Given the description of an element on the screen output the (x, y) to click on. 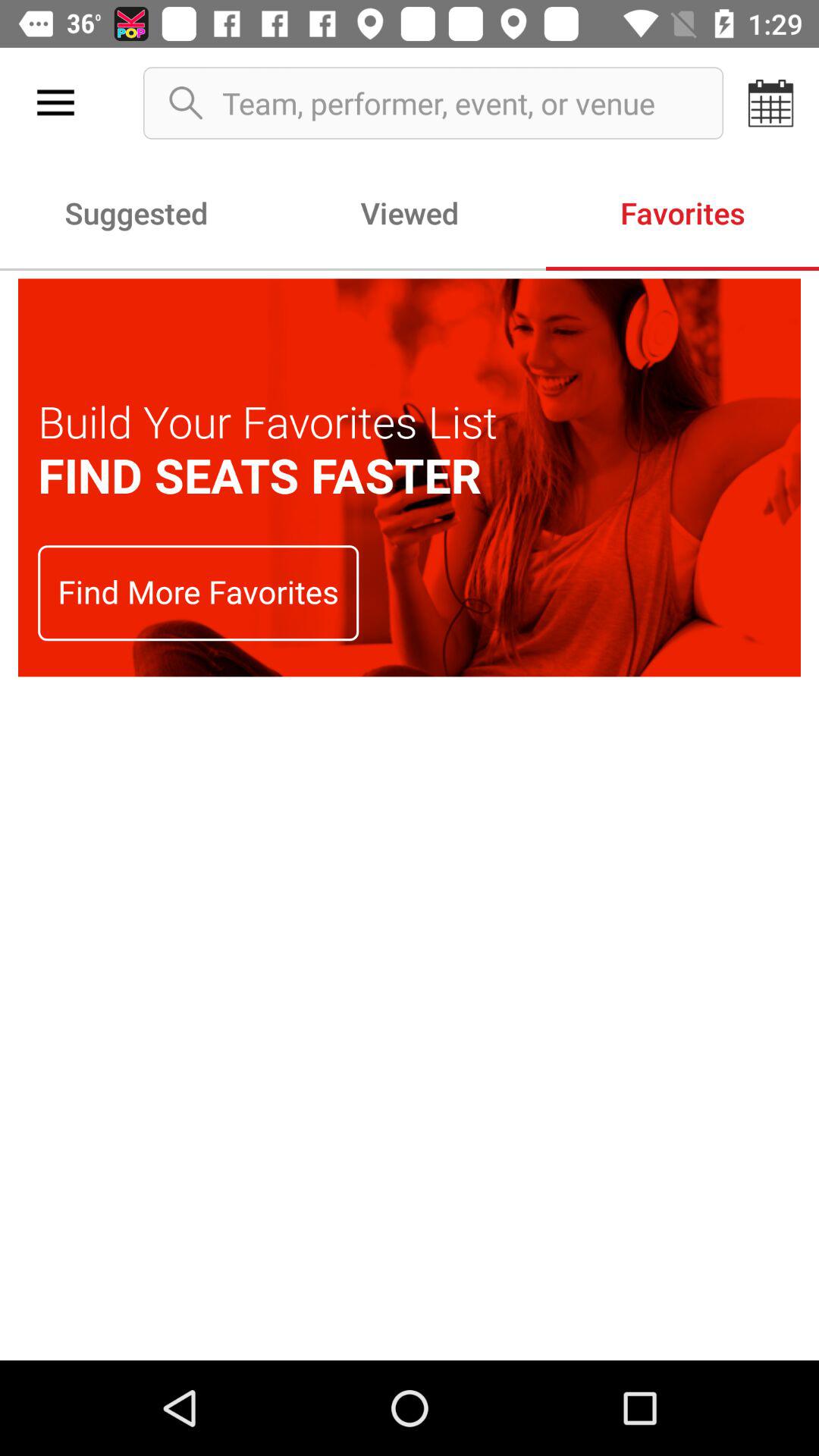
launch find more favorites on the left (198, 592)
